Given the description of an element on the screen output the (x, y) to click on. 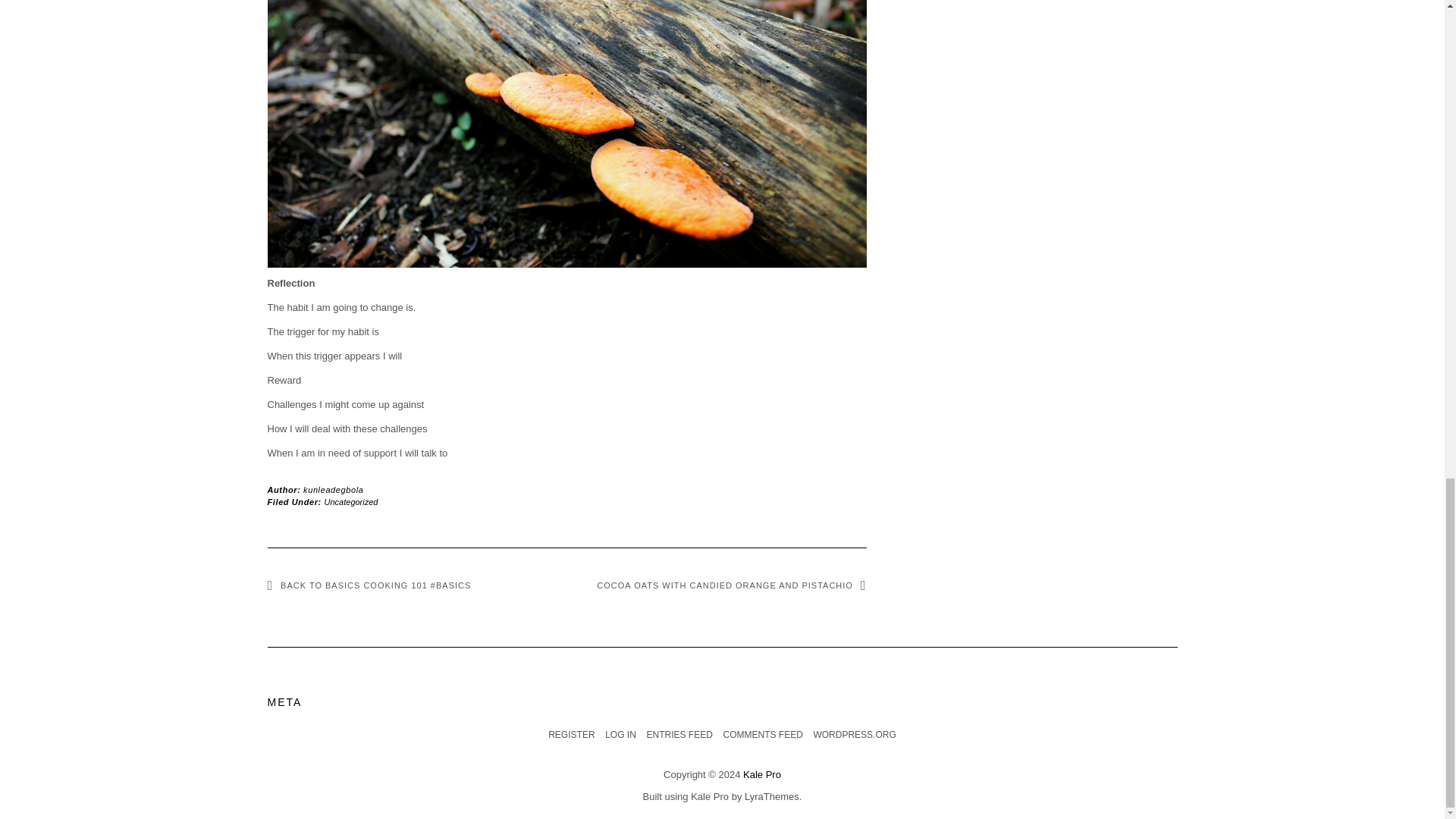
Kale Pro (761, 774)
kunleadegbola (332, 489)
REGISTER (571, 734)
ENTRIES FEED (678, 734)
Kale Pro (709, 796)
LOG IN (620, 734)
Posts by kunleadegbola (332, 489)
COCOA OATS WITH CANDIED ORANGE AND PISTACHIO (731, 584)
WORDPRESS.ORG (853, 734)
COMMENTS FEED (762, 734)
